Given the description of an element on the screen output the (x, y) to click on. 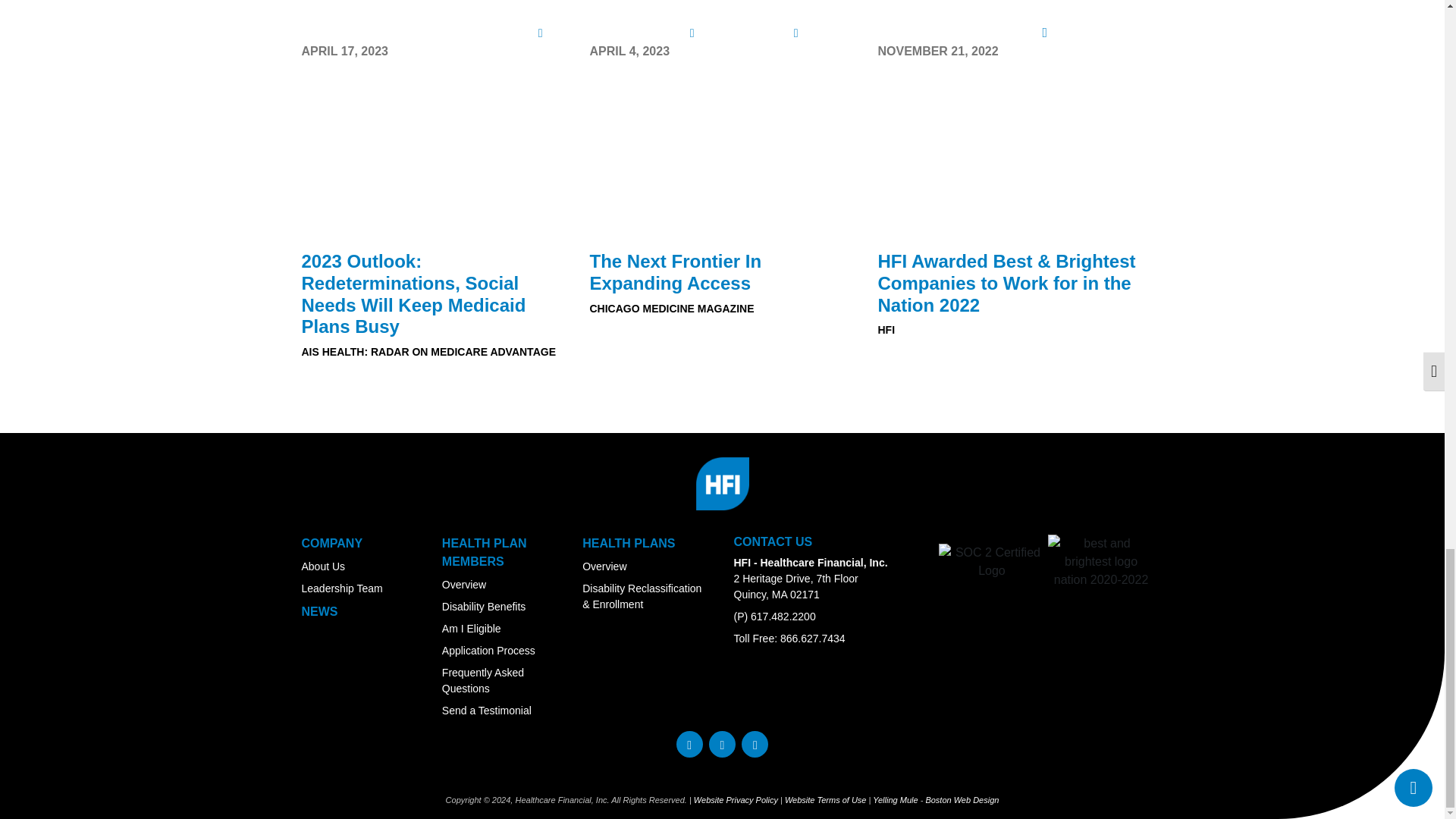
HEALTH PLAN MEMBERS (484, 552)
Disability Benefits (483, 606)
COMPANY (331, 543)
NEWS (319, 611)
About Us (323, 566)
Am I Eligible (471, 628)
Application Process (488, 650)
Send a Testimonial (486, 710)
Leadership Team (341, 588)
